Given the description of an element on the screen output the (x, y) to click on. 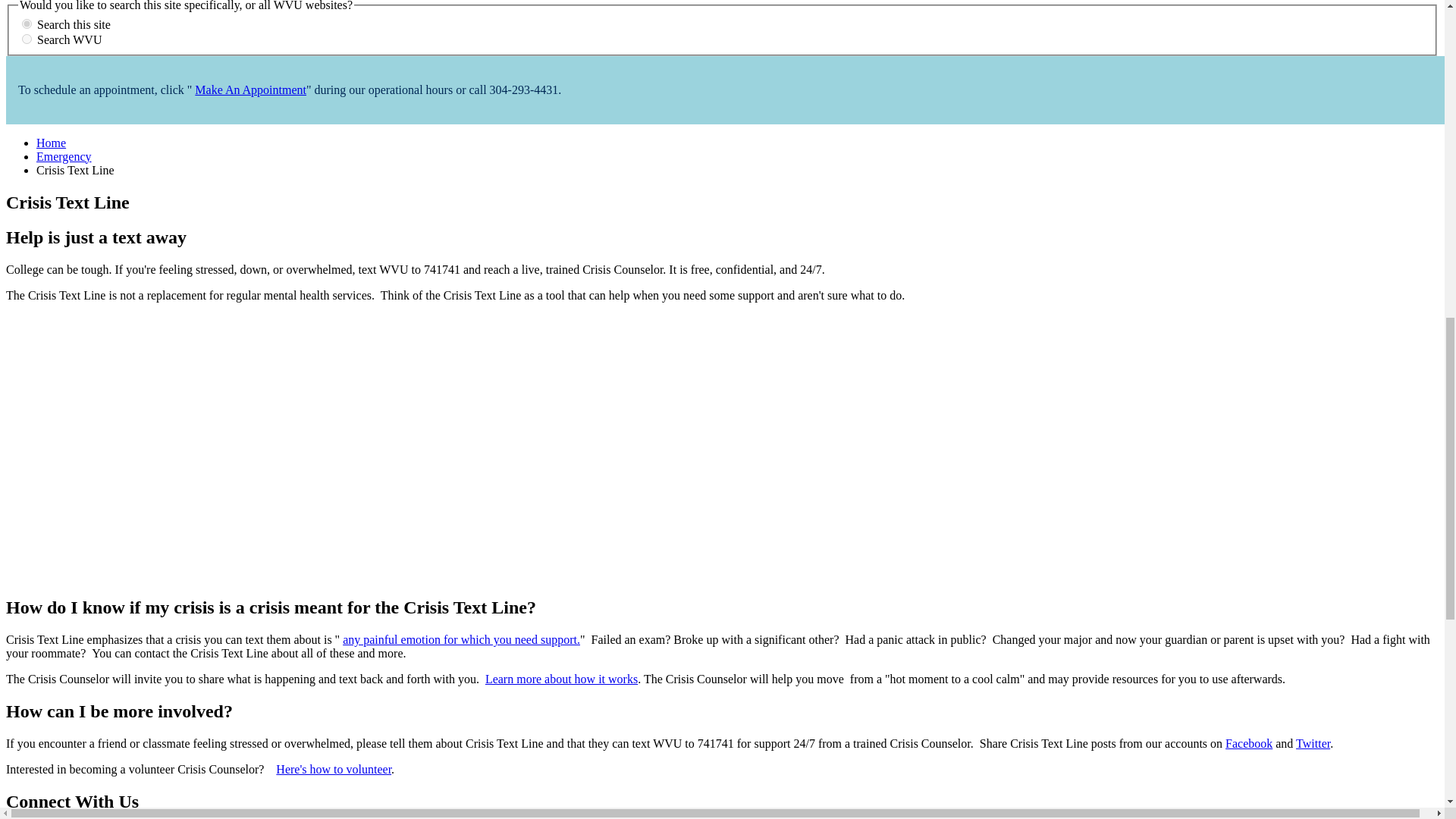
wvu.edu (26, 39)
carruth.wvu.edu (26, 23)
